Given the description of an element on the screen output the (x, y) to click on. 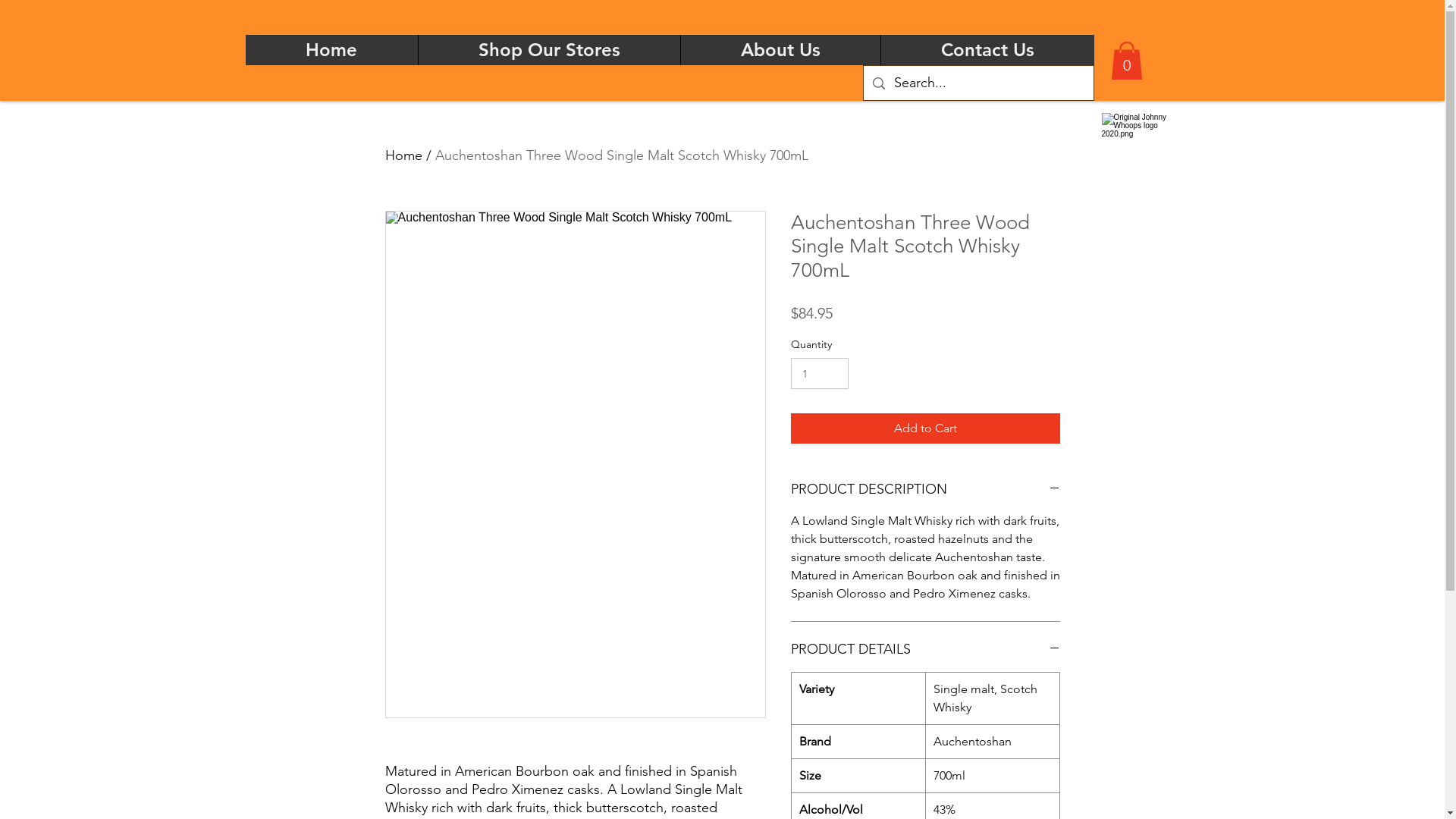
About Us Element type: text (779, 49)
Shop Our Stores Element type: text (548, 49)
Home Element type: text (403, 155)
Contact Us Element type: text (986, 49)
PRODUCT DESCRIPTION Element type: text (924, 489)
Add to Cart Element type: text (924, 428)
PRODUCT DETAILS Element type: text (924, 649)
Home Element type: text (331, 49)
0 Element type: text (1126, 60)
